Given the description of an element on the screen output the (x, y) to click on. 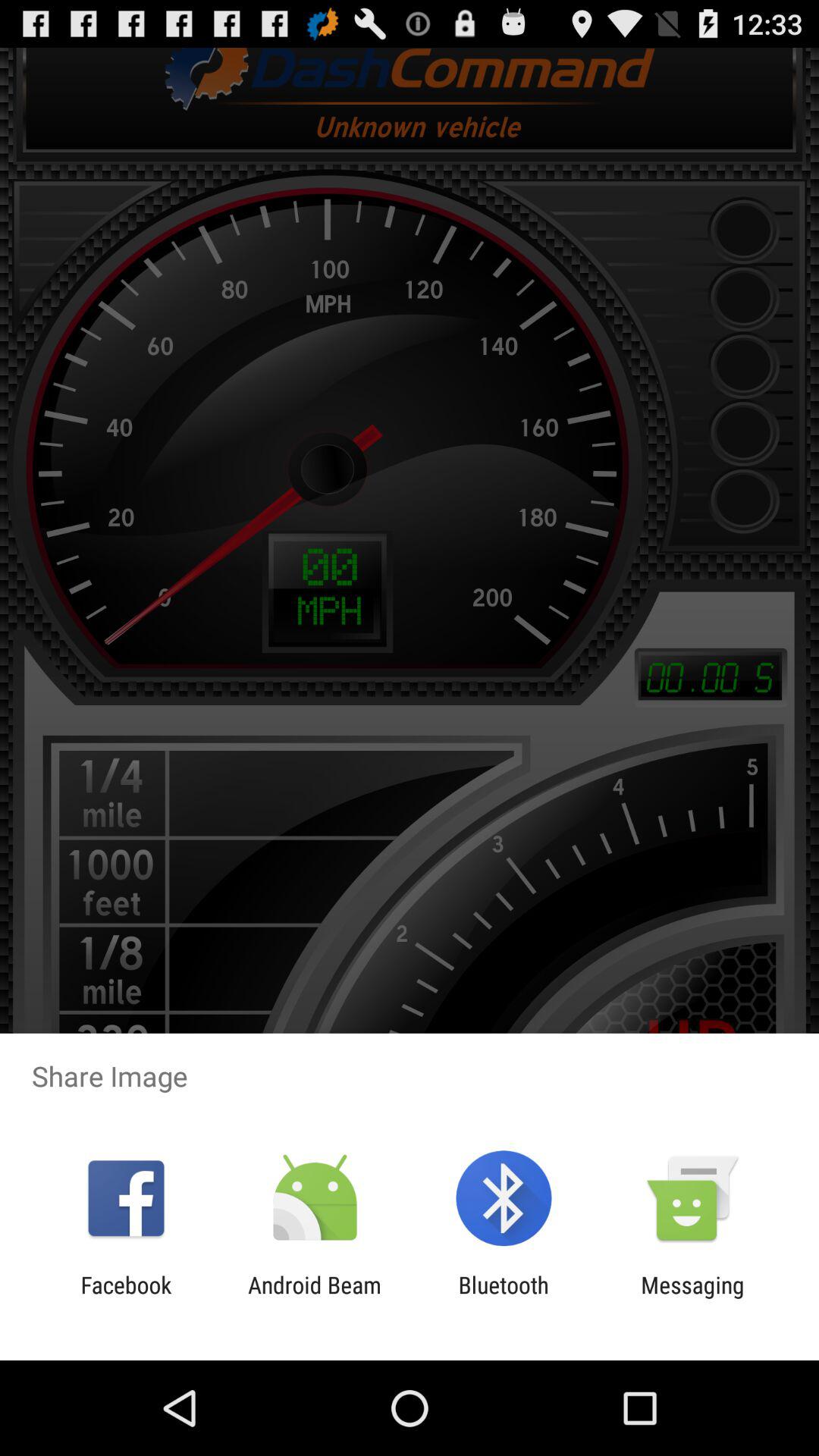
turn off the facebook item (125, 1298)
